Given the description of an element on the screen output the (x, y) to click on. 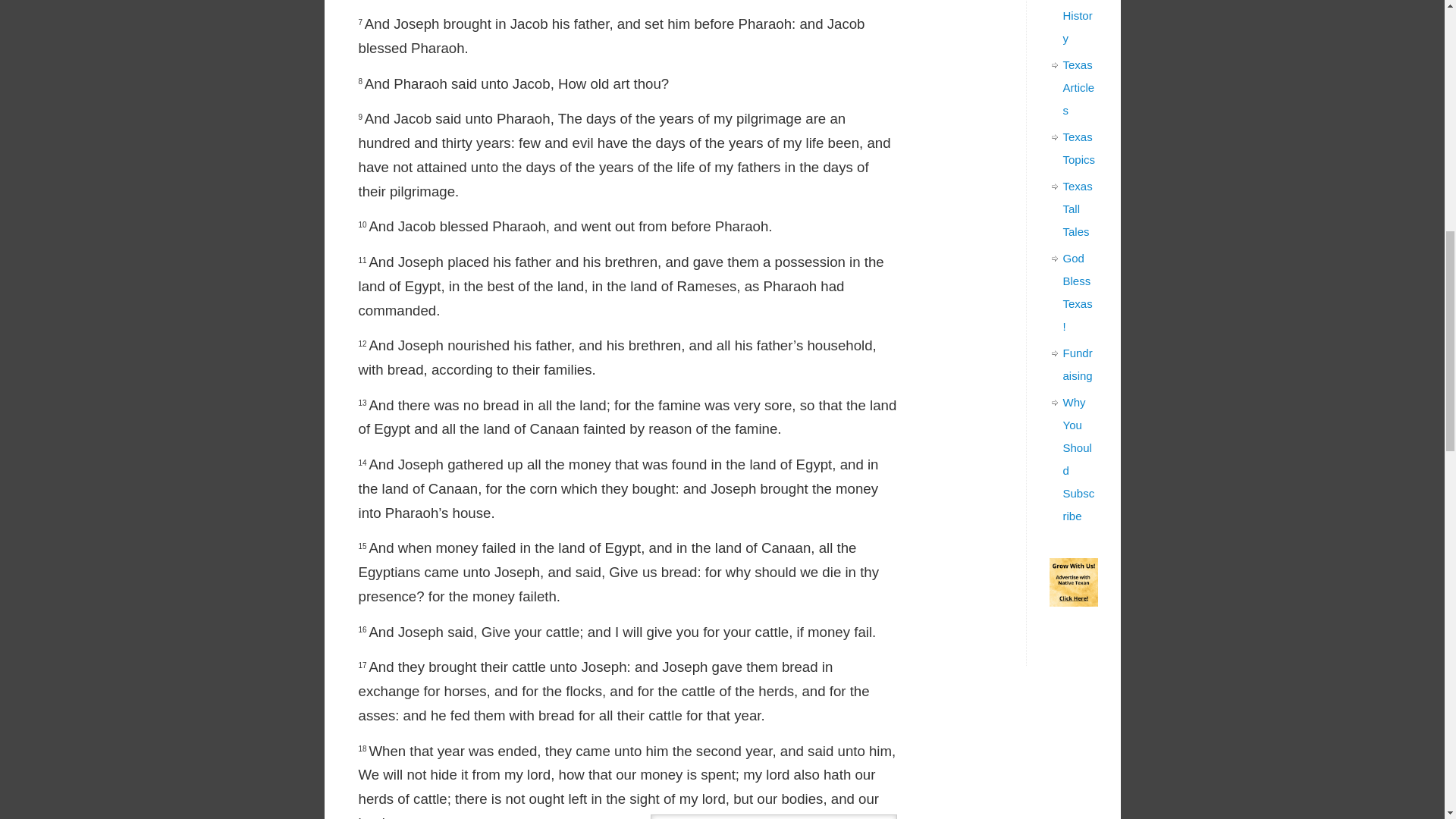
Fundraising (1077, 364)
Why You Should Subscribe (1078, 458)
Texas History (1077, 22)
Texas Topics (1079, 148)
Texas Tall Tales (1077, 208)
God Bless Texas! (1077, 291)
Texas Articles (1078, 87)
